Given the description of an element on the screen output the (x, y) to click on. 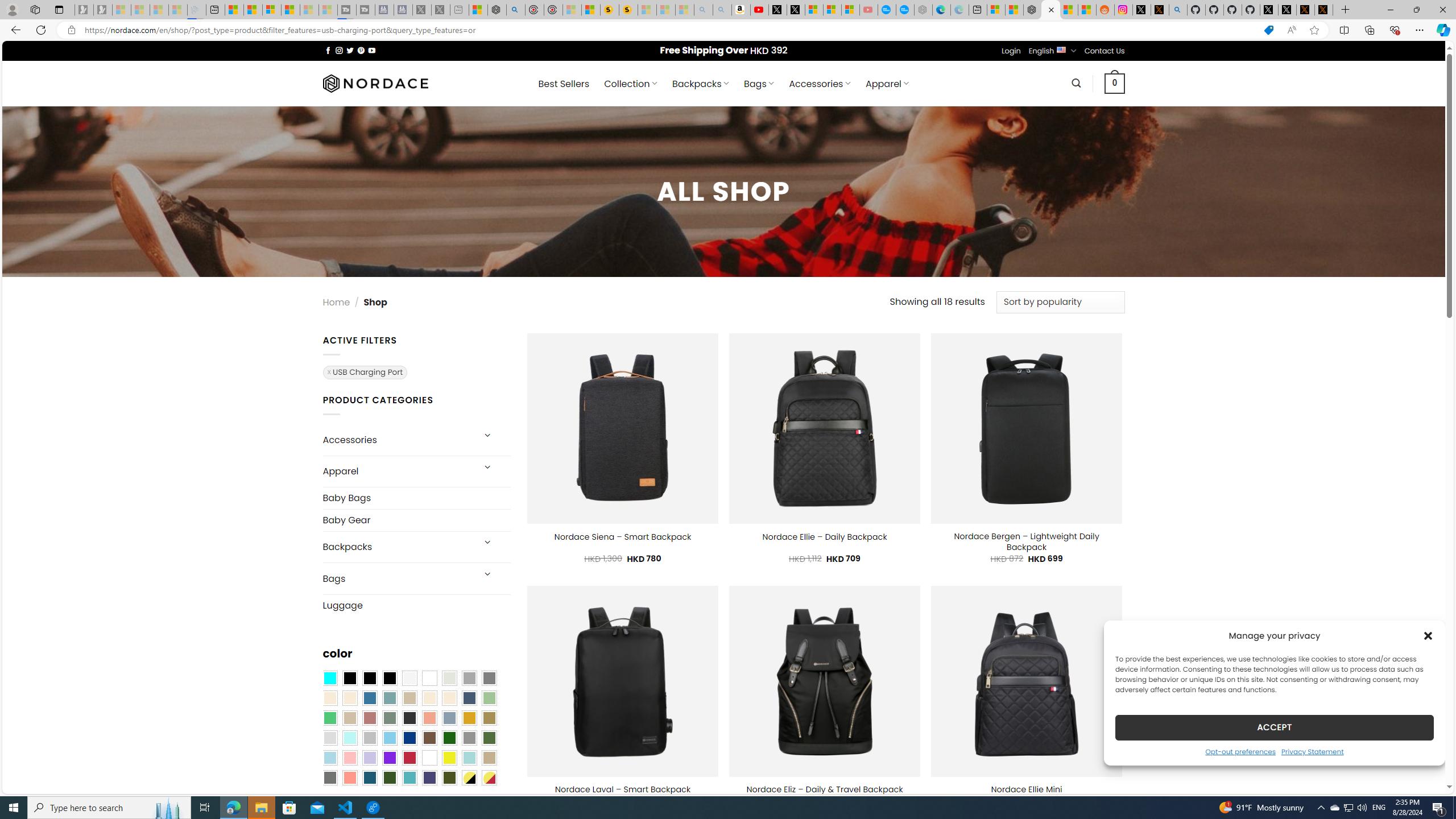
Add this page to favorites (Ctrl+D) (1314, 29)
Login (1010, 50)
 0  (1115, 83)
Nordace (374, 83)
Baby Bags (416, 497)
The most popular Google 'how to' searches (904, 9)
Red (408, 758)
GitHub (@github) / X (1287, 9)
Address and search bar (669, 29)
Opt-out preferences (1240, 750)
